Given the description of an element on the screen output the (x, y) to click on. 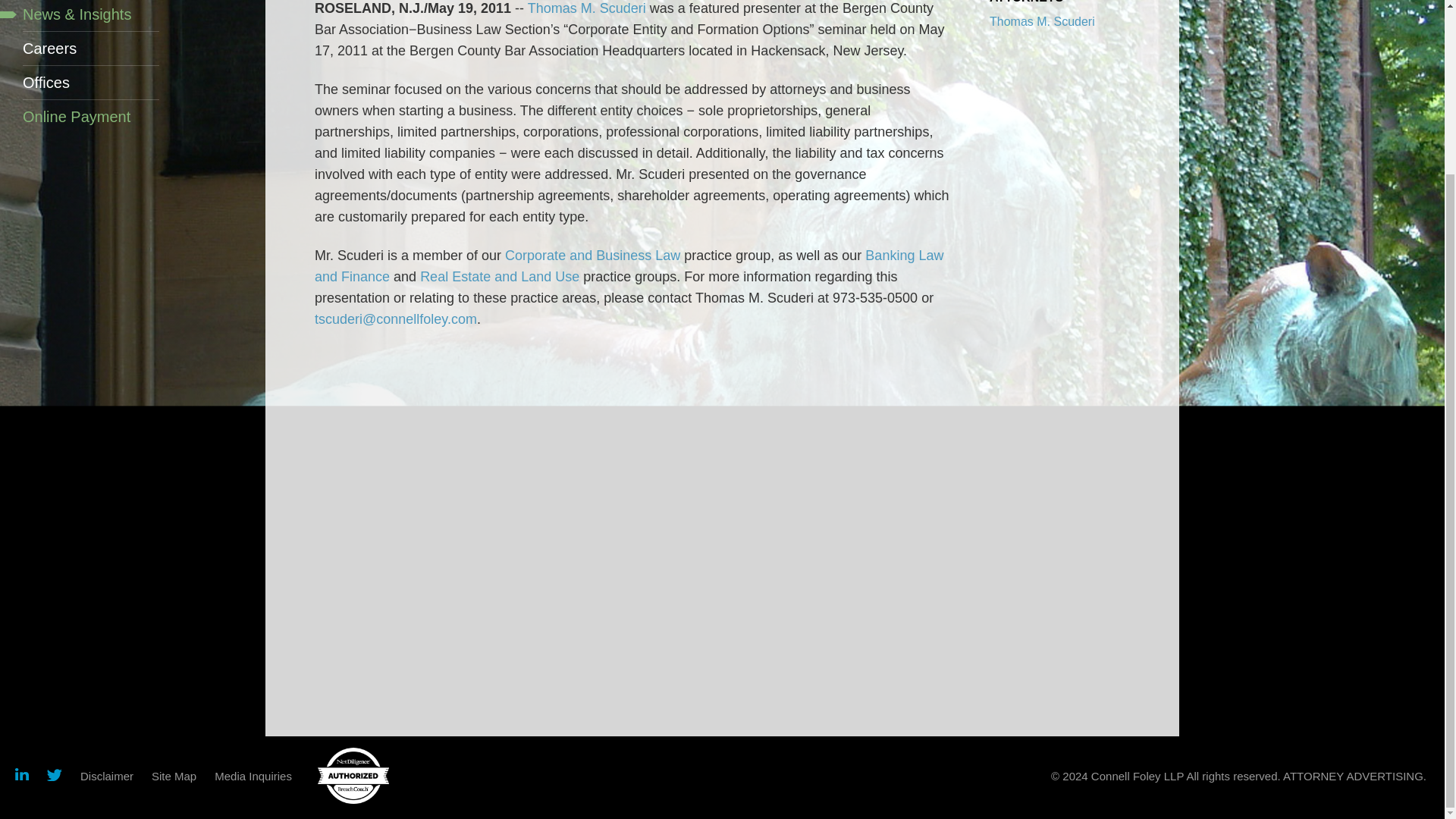
Thomas M. Scuderi (586, 7)
linkedin (21, 776)
Banking Law and Finance (628, 266)
Corporate and Business Law (592, 255)
Thomas M. Scuderi (1042, 21)
Real Estate and Land Use (499, 276)
twitter (54, 776)
